Given the description of an element on the screen output the (x, y) to click on. 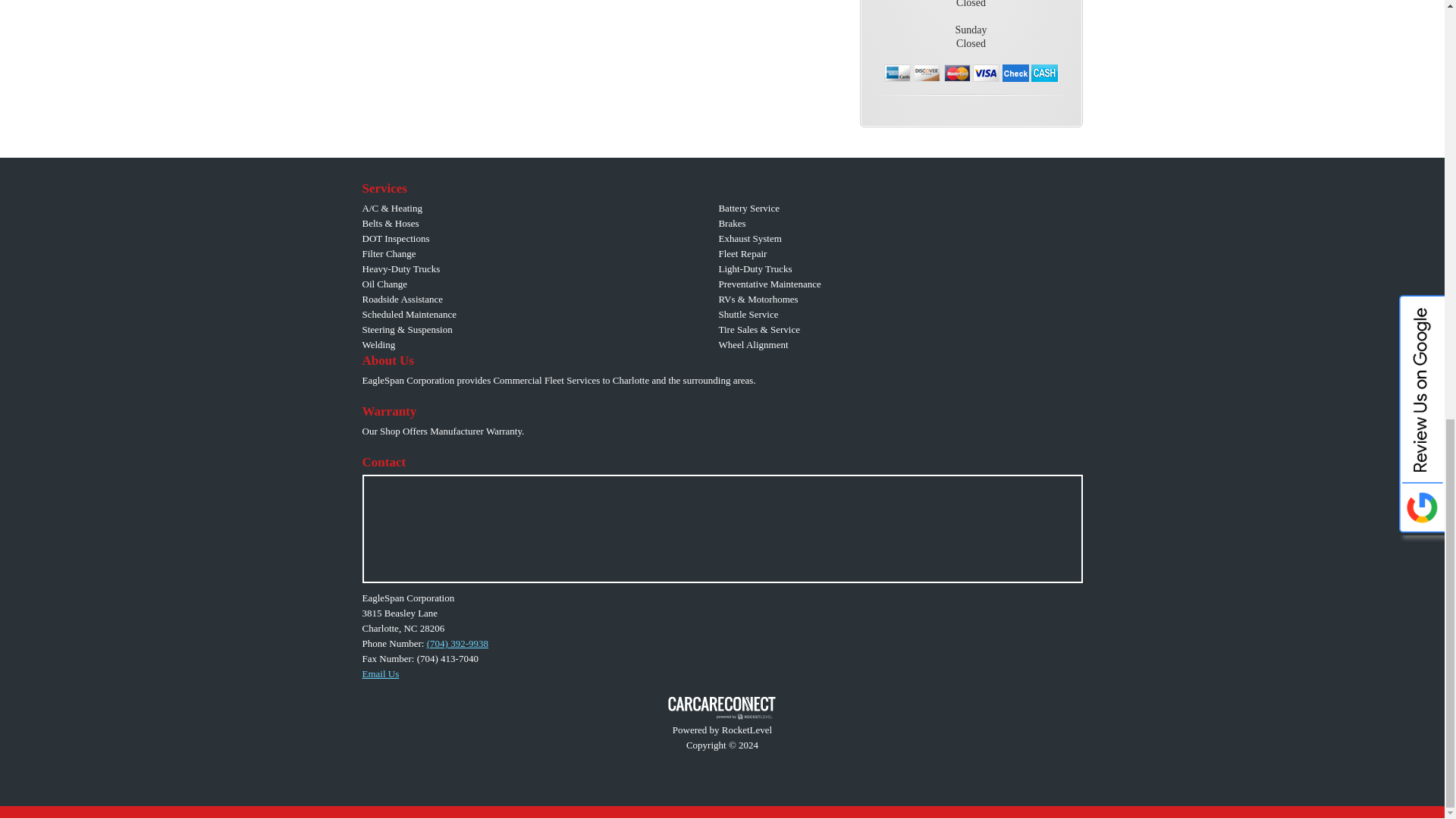
Email Us (380, 673)
RocketLevel (721, 715)
